Given the description of an element on the screen output the (x, y) to click on. 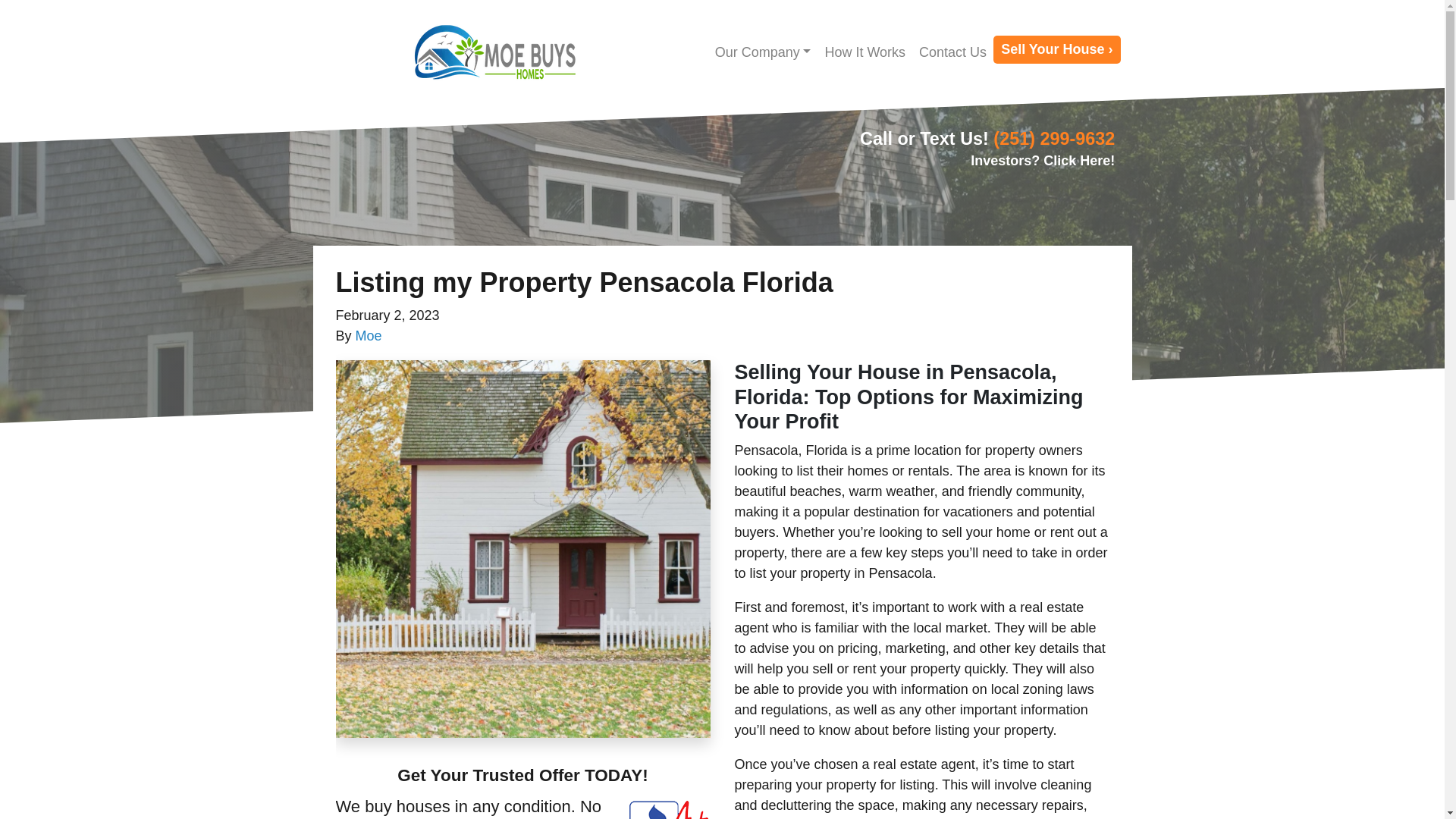
Our Company (762, 52)
Moe (368, 335)
How It Works (864, 52)
Our Company (762, 52)
How It Works (864, 52)
Investors? Click Here! (1043, 160)
Contact Us (952, 52)
Contact Us (952, 52)
